Given the description of an element on the screen output the (x, y) to click on. 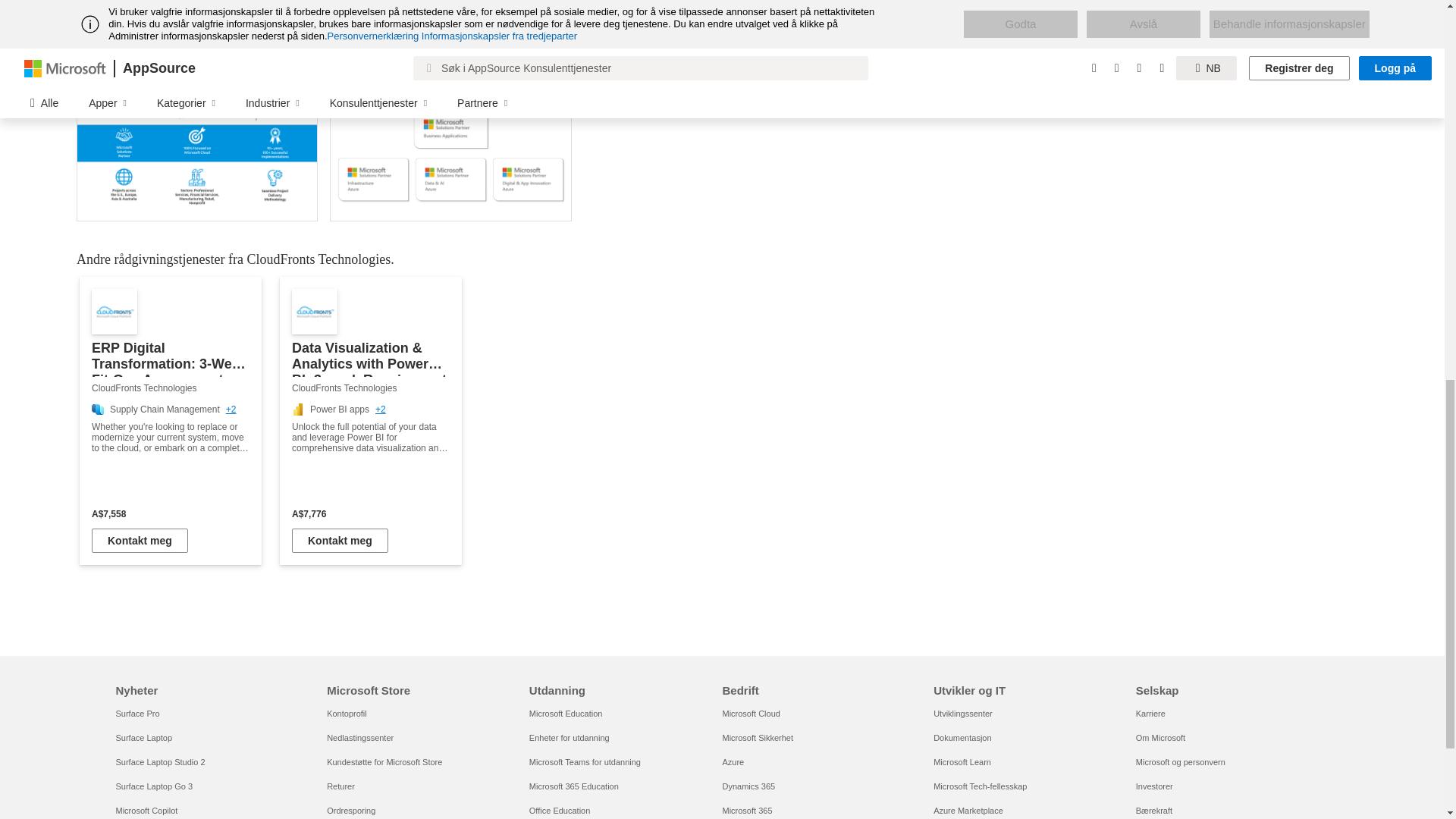
Surface Laptop Go 3 (153, 786)
Microsoft Copilot (146, 809)
Surface Laptop Studio 2 (160, 761)
Kontakt meg (139, 540)
Kontakt meg (340, 540)
Surface Pro (136, 713)
Surface Laptop (143, 737)
